Given the description of an element on the screen output the (x, y) to click on. 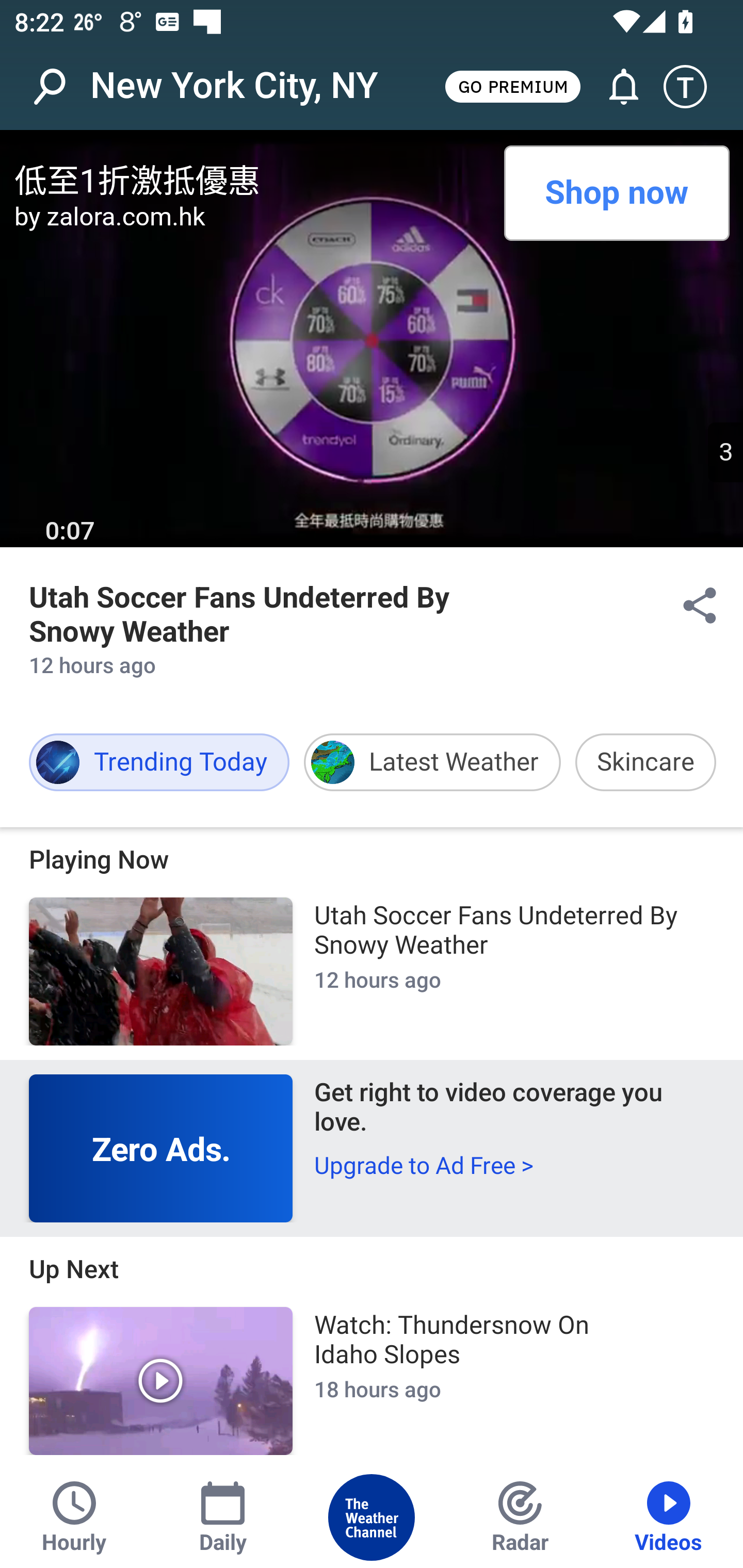
Search (59, 86)
Go to Alerts and Notifications (614, 86)
Setting icon T (694, 86)
New York City, NY (234, 85)
GO PREMIUM (512, 85)
Shop now (616, 192)
低至1折激抵優惠 (252, 177)
by zalora.com.hk (252, 216)
Skip Ad Countdown (725, 452)
0:07 (70, 530)
Trending Today (158, 762)
Latest Weather (431, 762)
Skincare (645, 762)
Play (160, 1381)
Hourly Tab Hourly (74, 1517)
Daily Tab Daily (222, 1517)
Home Tab (371, 1517)
Radar Tab Radar (519, 1517)
